Given the description of an element on the screen output the (x, y) to click on. 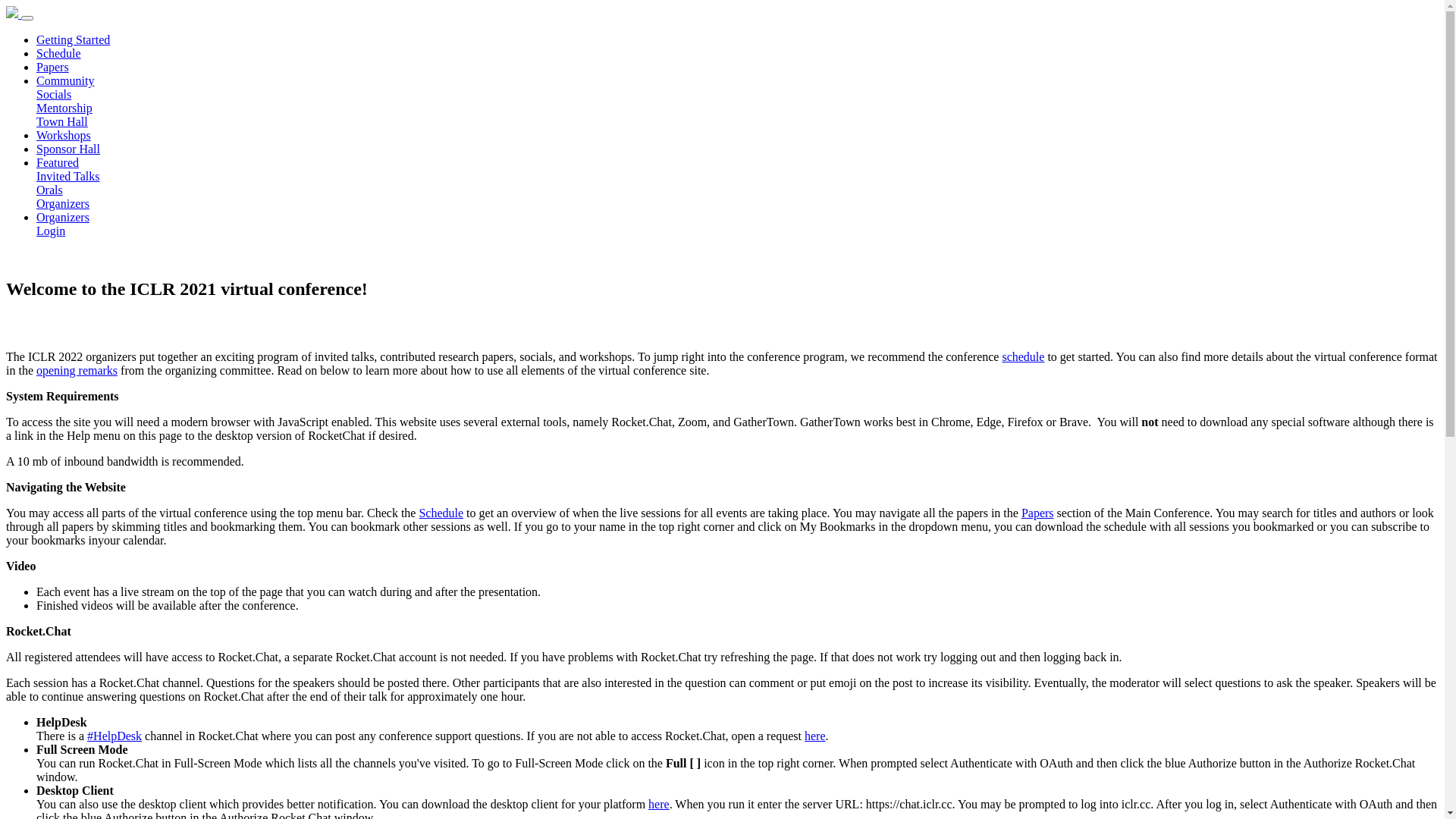
Schedule Element type: text (58, 53)
here Element type: text (814, 735)
Organizers Element type: text (62, 203)
Invited Talks Element type: text (67, 175)
Papers Element type: text (52, 66)
Workshops Element type: text (63, 134)
Community Element type: text (65, 80)
Mentorship Element type: text (64, 107)
Papers Element type: text (1037, 512)
Featured Element type: text (57, 162)
here Element type: text (658, 803)
opening remarks Element type: text (76, 370)
Organizers Element type: text (62, 216)
Schedule Element type: text (440, 512)
Town Hall Element type: text (61, 121)
Socials Element type: text (53, 93)
schedule Element type: text (1022, 356)
Login Element type: text (50, 230)
Sponsor Hall Element type: text (68, 148)
Orals Element type: text (49, 189)
Getting Started Element type: text (72, 39)
#HelpDesk Element type: text (114, 735)
